Given the description of an element on the screen output the (x, y) to click on. 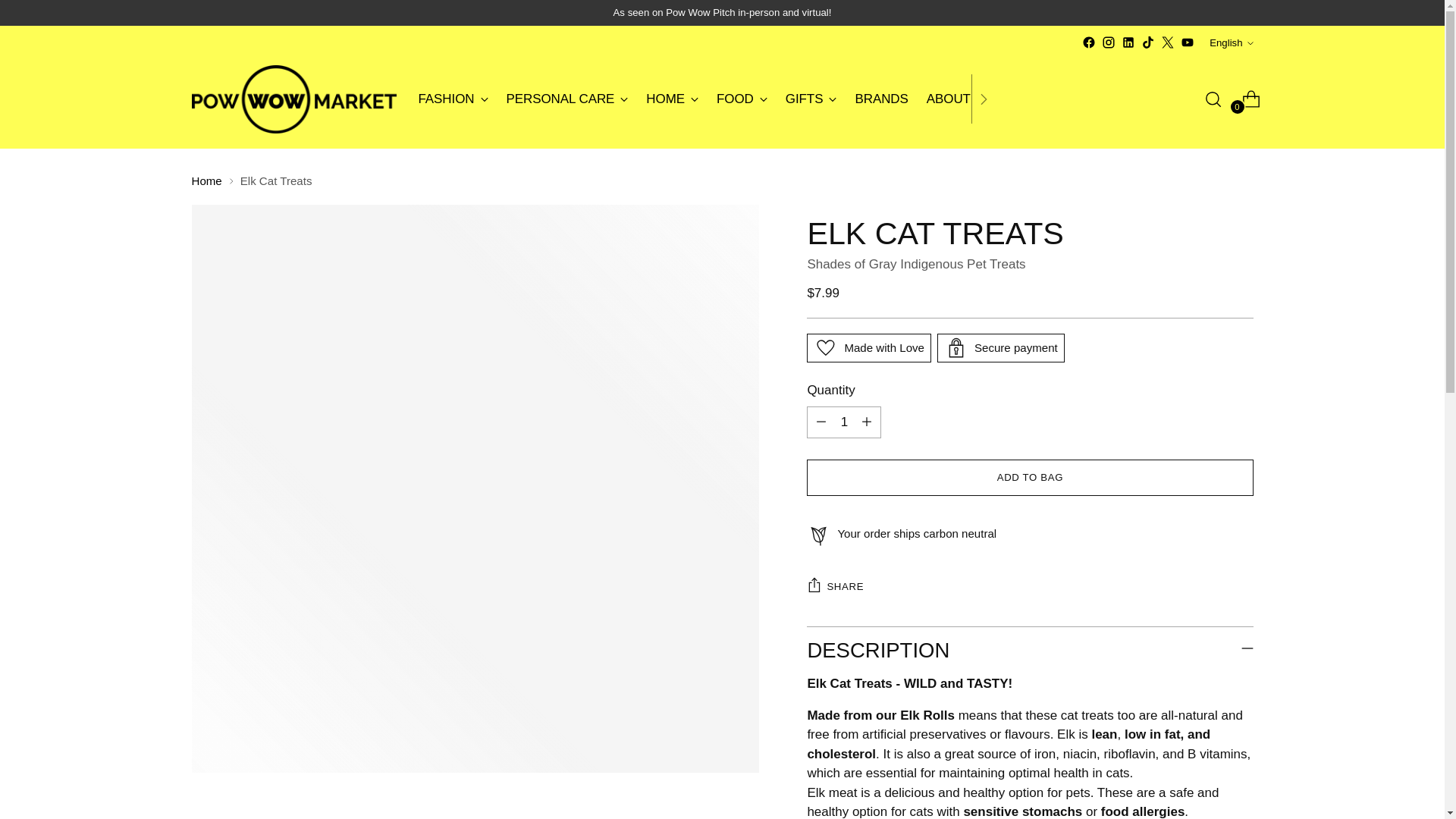
Pow Wow Market on LinkedIn (1128, 42)
Shades of Gray Indigenous Pet Treats (915, 264)
HOME (672, 99)
PERSONAL CARE (567, 99)
Pow Wow Market on YouTube (1186, 42)
Pow Wow Market on Twitter (705, 98)
FOOD (1167, 42)
FASHION (741, 99)
GIFTS (453, 99)
Pow Wow Market on Facebook (811, 99)
Pow Wow Market on Instagram (1088, 42)
English (1108, 42)
1 (1230, 41)
Pow Wow Market on Tiktok (843, 422)
